Given the description of an element on the screen output the (x, y) to click on. 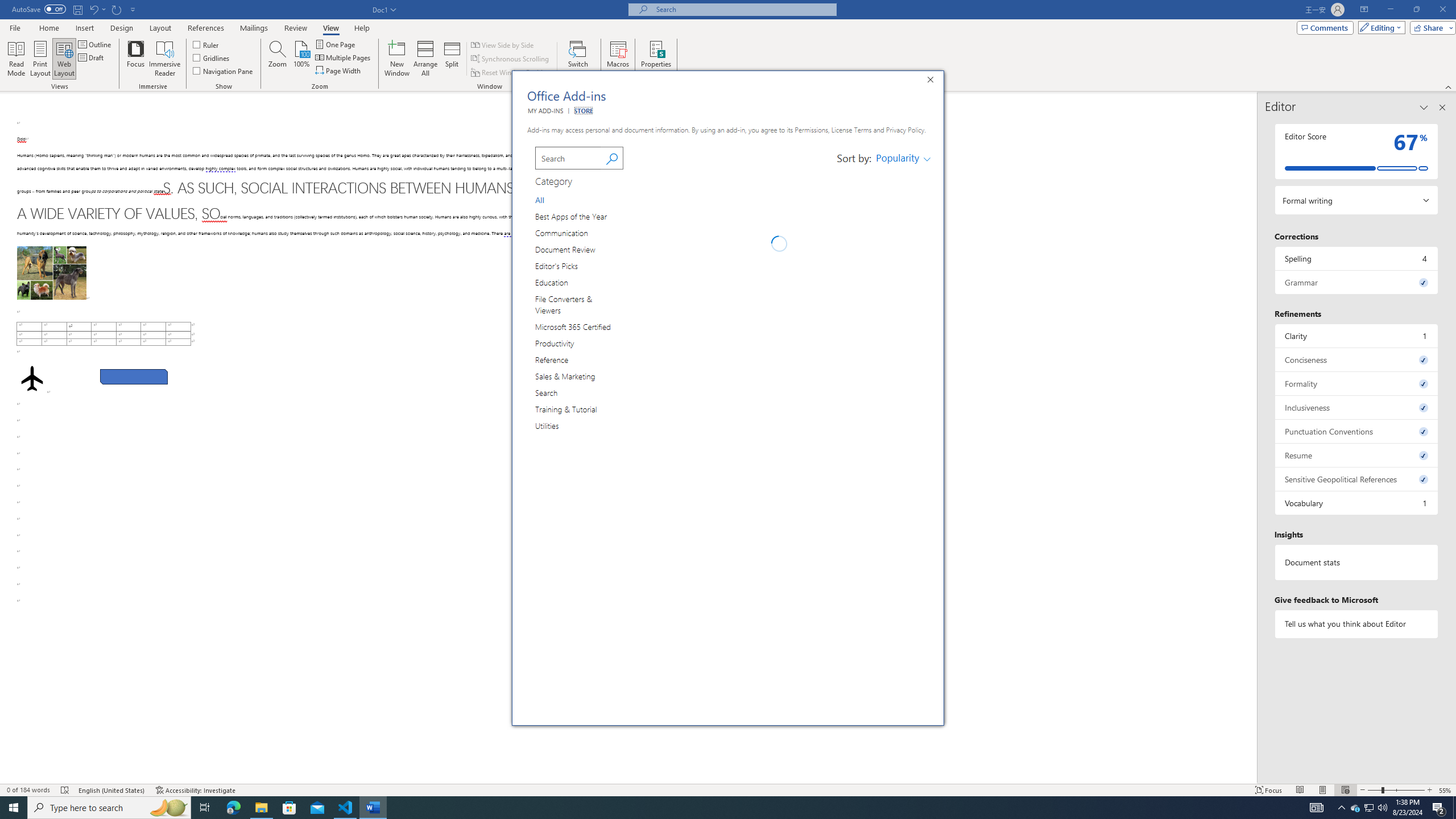
Grammar, 0 issues. Press space or enter to review items. (1356, 282)
View Side by Side (502, 44)
Microsoft Edge (233, 807)
Outline (95, 44)
Spelling, 4 issues. Press space or enter to review items. (1356, 258)
Mobile Data Collection - Scan-IT to Office icon (646, 370)
Category Group Productivity 9 of 14 (556, 342)
